Given the description of an element on the screen output the (x, y) to click on. 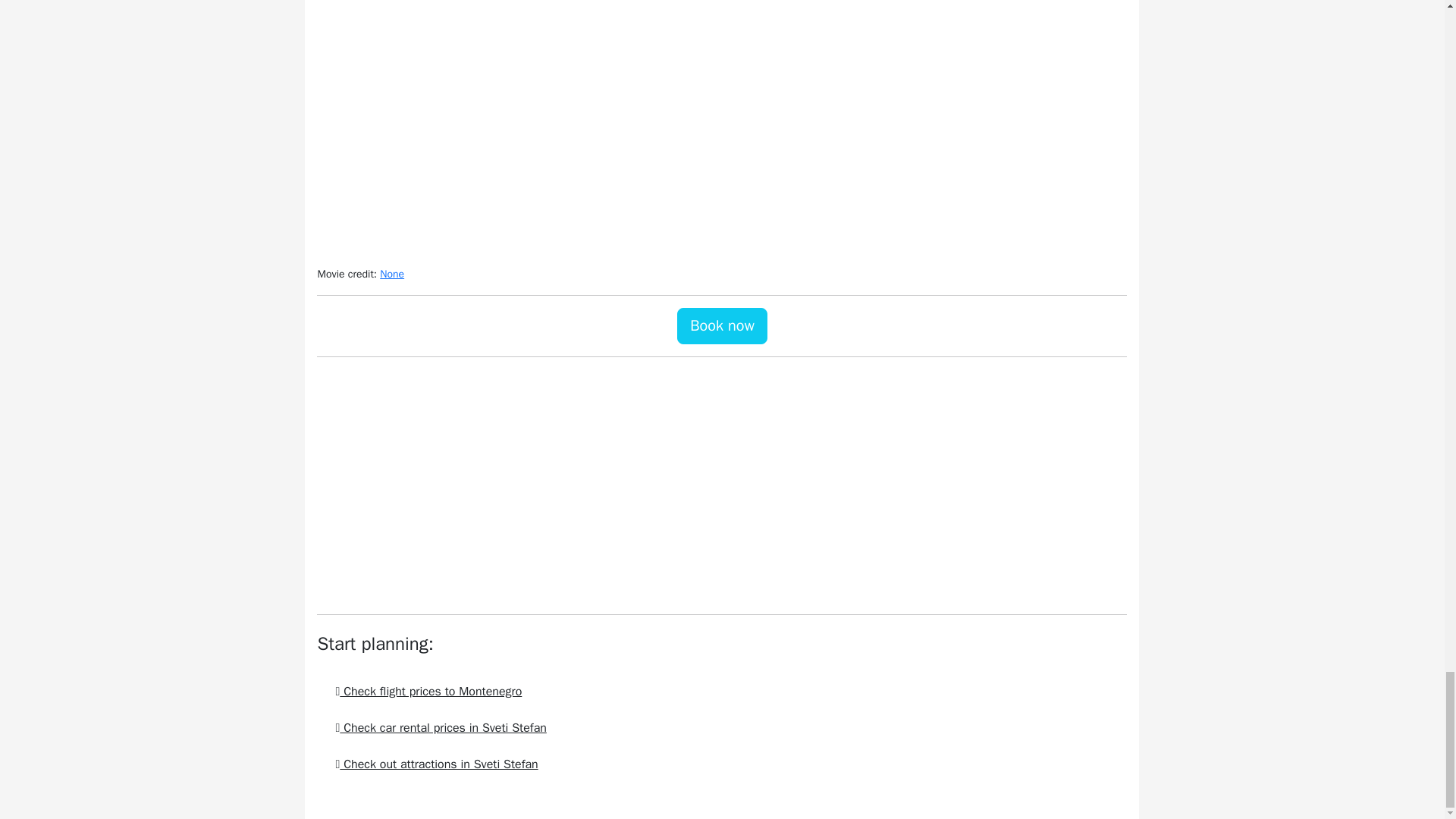
 Check out attractions in Sveti Stefan (435, 764)
Book now (722, 325)
 Check car rental prices in Sveti Stefan (440, 727)
 Check flight prices to Montenegro (427, 691)
None (392, 273)
